Given the description of an element on the screen output the (x, y) to click on. 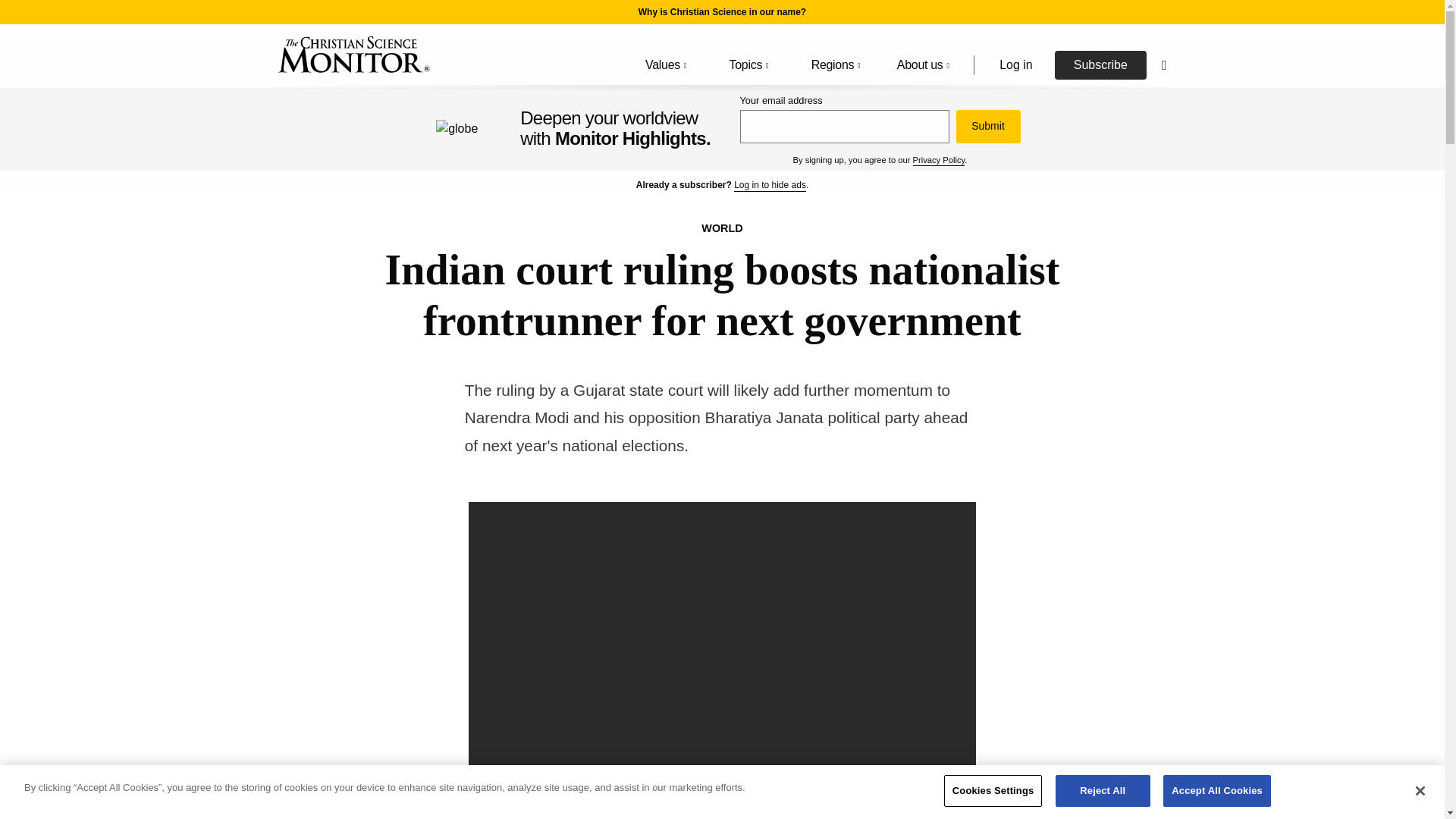
Subscribe (1100, 64)
The Christian Science Monitor home page (353, 54)
Topics (745, 65)
Submit (987, 126)
About us (923, 65)
Log in (1015, 64)
Regions (833, 65)
Values (662, 65)
